Given the description of an element on the screen output the (x, y) to click on. 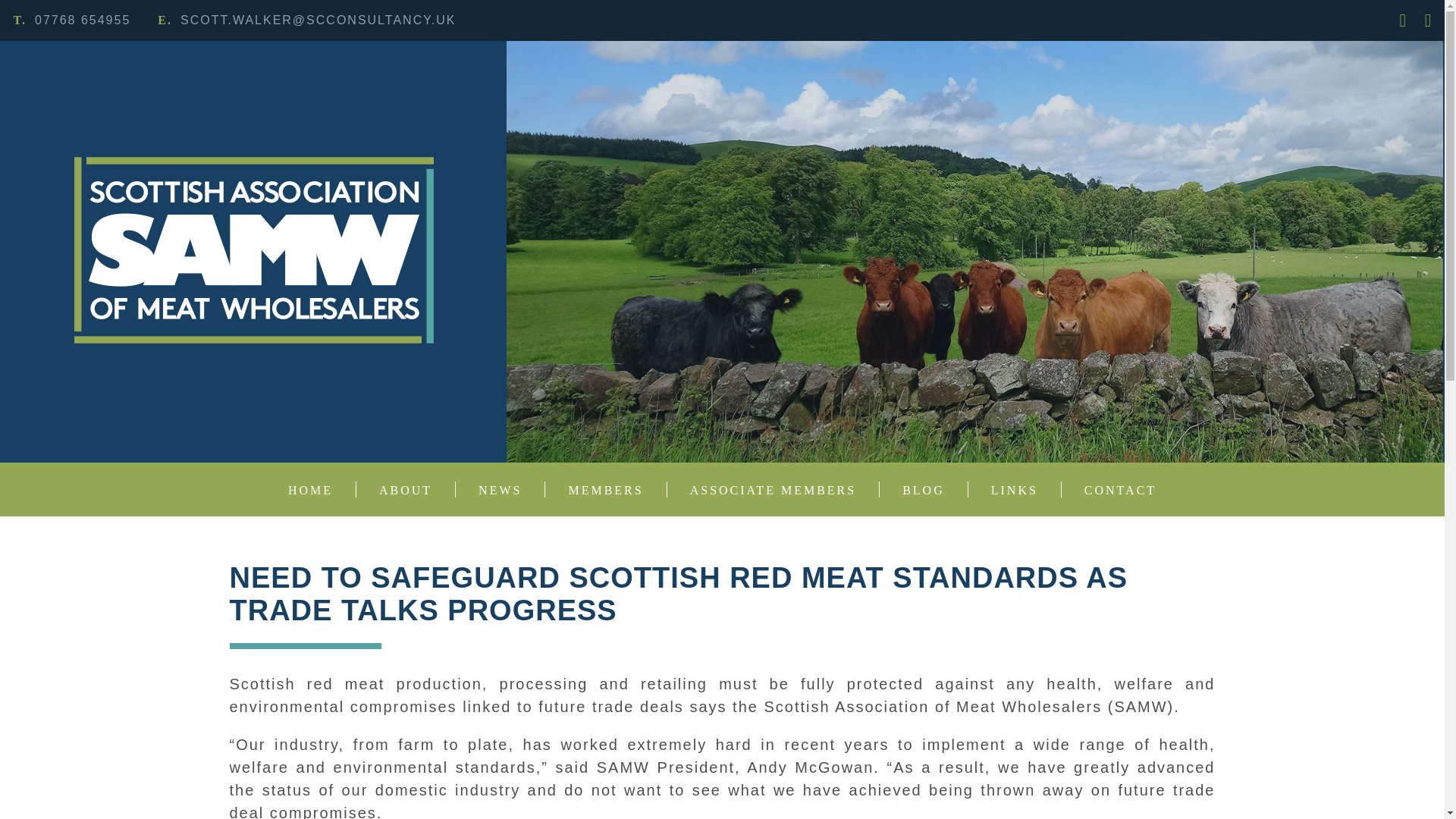
LINKS (1003, 489)
ABOUT (393, 489)
NEWS (487, 489)
ASSOCIATE MEMBERS (761, 489)
BLOG (911, 489)
CONTACT (1108, 489)
MEMBERS (593, 489)
Scottish Association of Meat Wholesalers (253, 250)
HOME (310, 489)
